Given the description of an element on the screen output the (x, y) to click on. 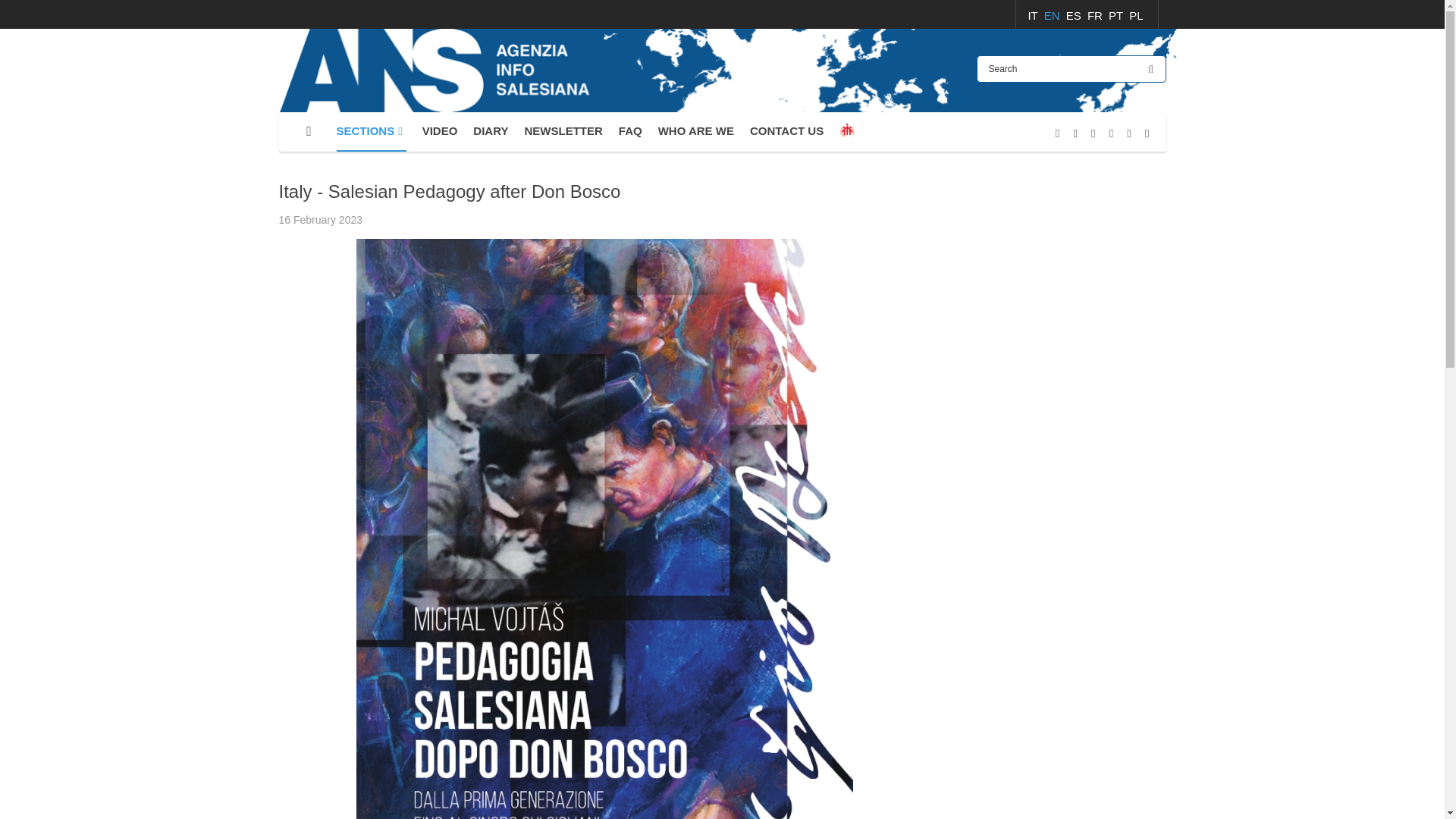
Video (440, 131)
WHO ARE WE (695, 131)
VIDEO (440, 131)
IT (1034, 15)
EN (1052, 15)
FR (1096, 15)
PL (1135, 15)
NEWSLETTER (563, 131)
Search (1071, 68)
ES (1074, 15)
